Given the description of an element on the screen output the (x, y) to click on. 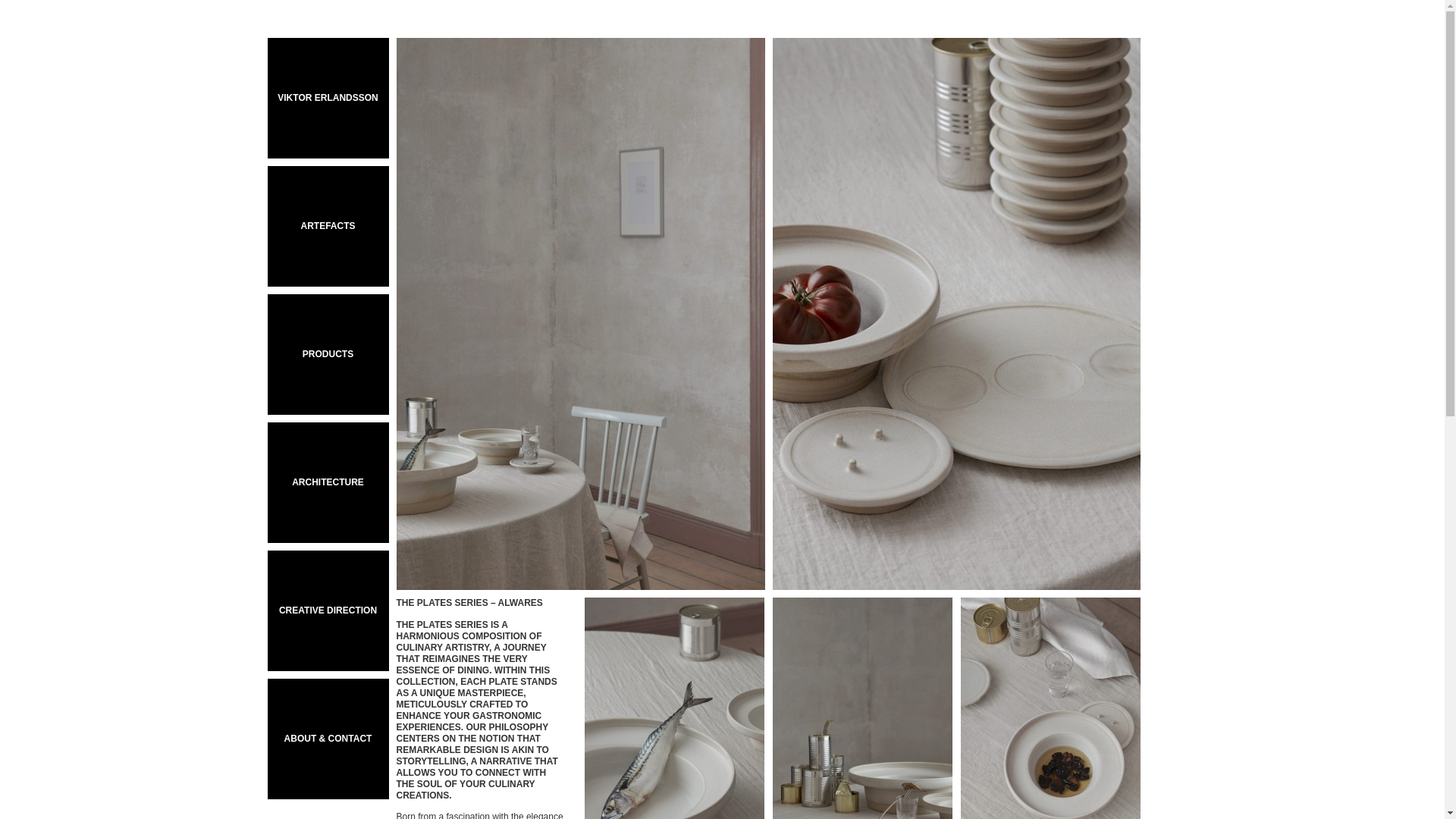
ARCHITECTURE (327, 482)
CREATIVE DIRECTION (327, 610)
VIKTOR ERLANDSSON (327, 97)
PRODUCTS (327, 354)
ARTEFACTS (327, 226)
